Given the description of an element on the screen output the (x, y) to click on. 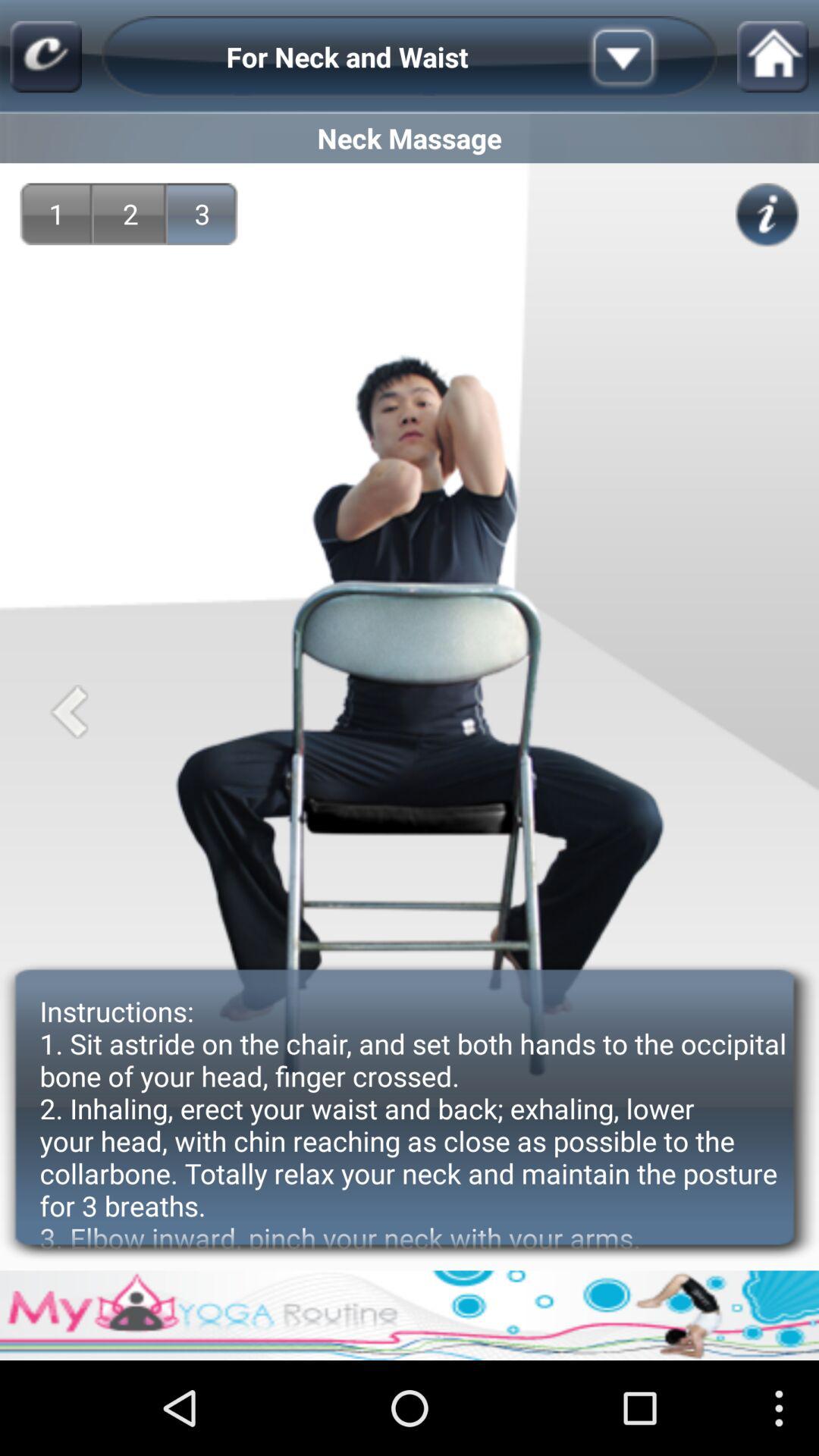
choose the app to the left of for neck and icon (45, 56)
